Given the description of an element on the screen output the (x, y) to click on. 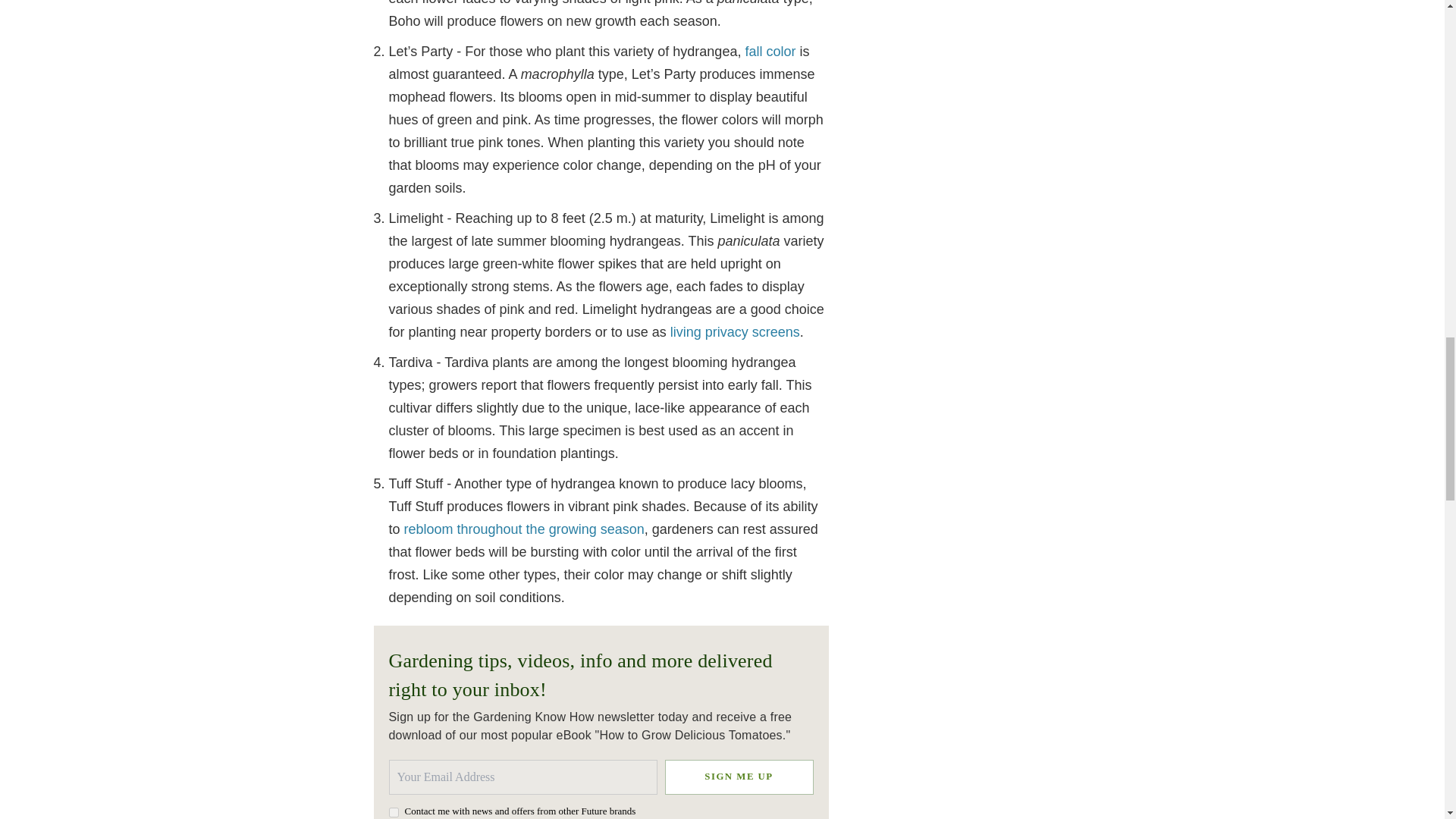
on (392, 811)
Sign me up (737, 777)
